Given the description of an element on the screen output the (x, y) to click on. 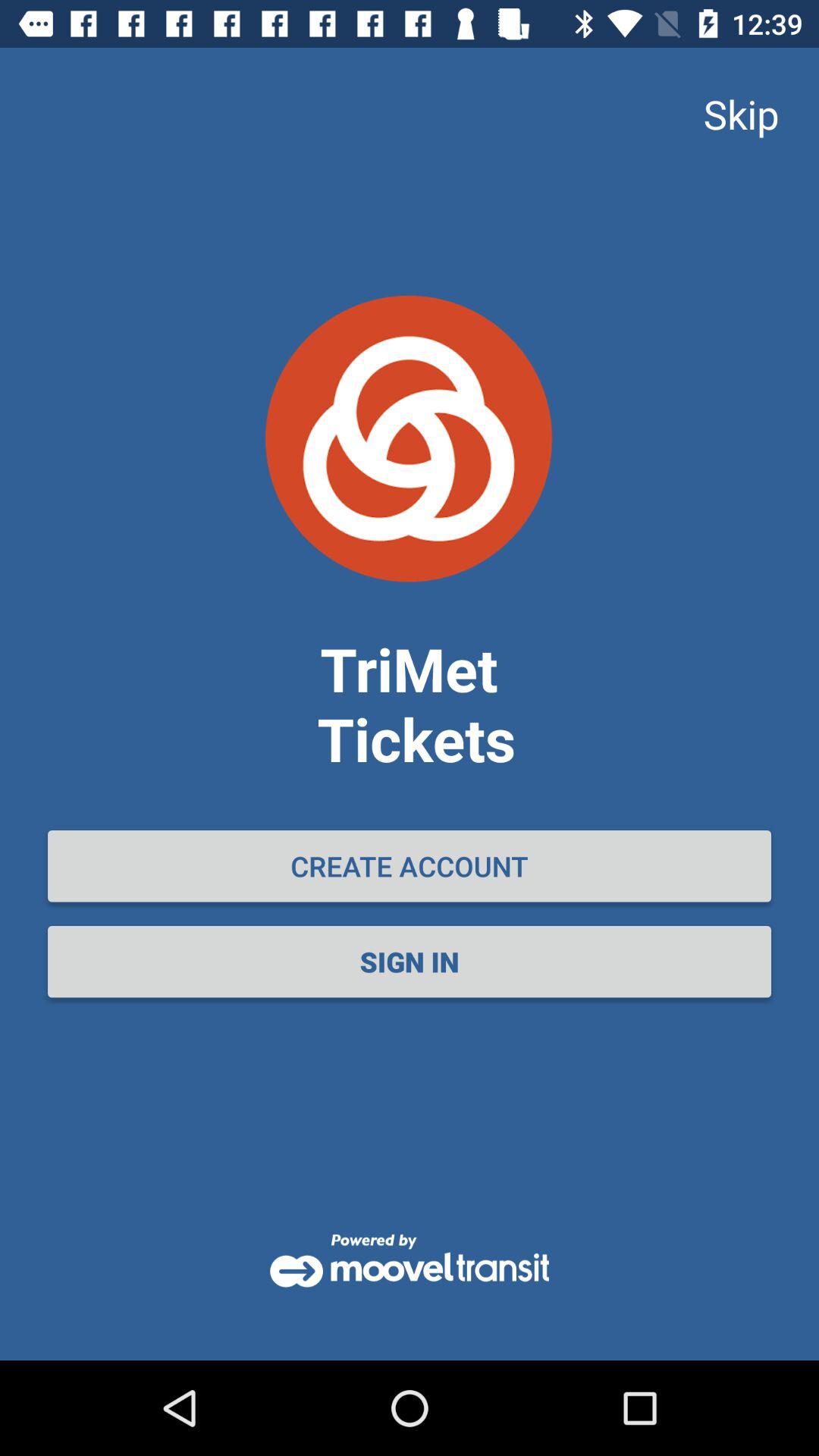
scroll until create account item (409, 865)
